Given the description of an element on the screen output the (x, y) to click on. 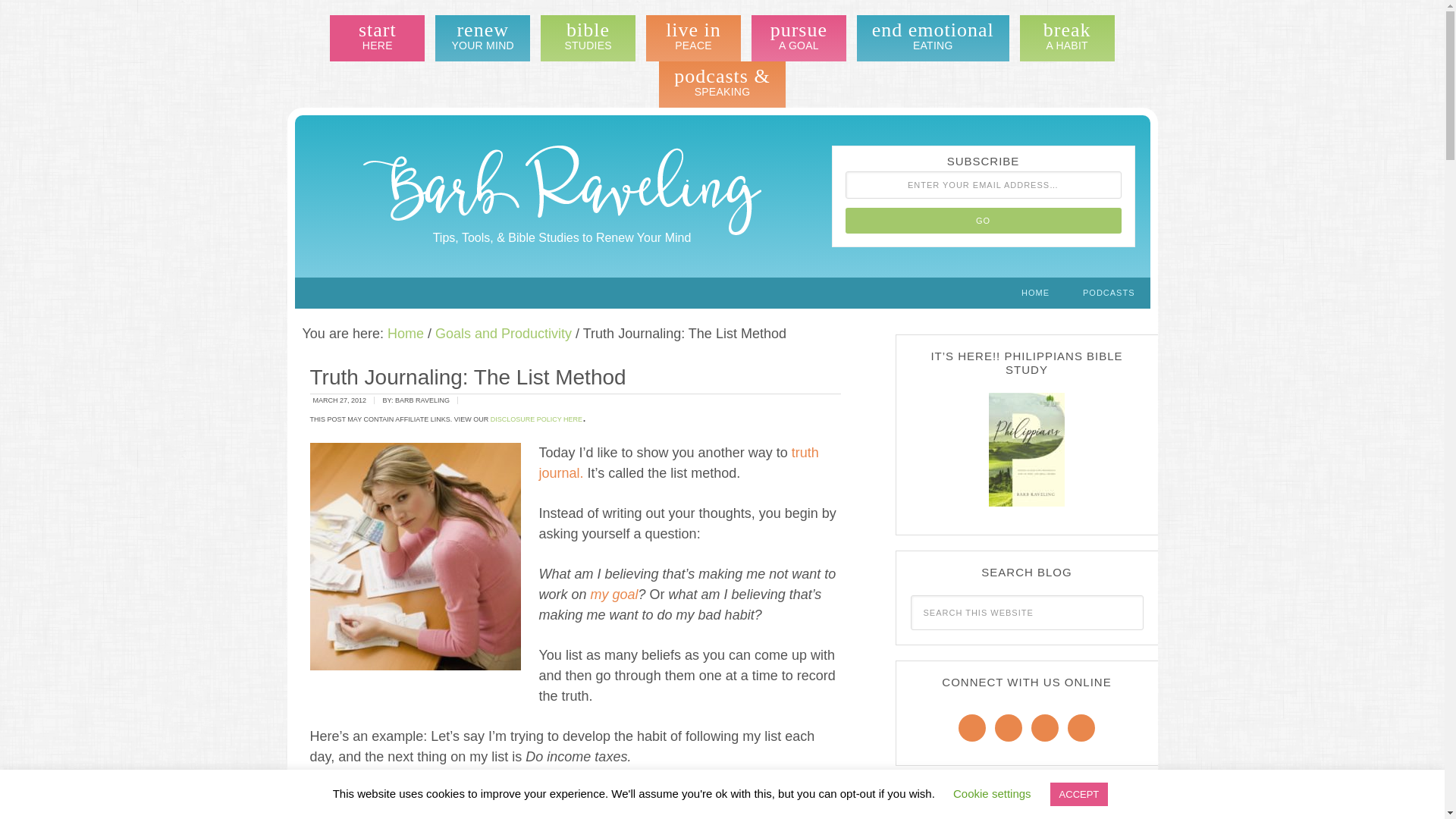
Search (482, 38)
Search (798, 38)
Go (933, 38)
